Given the description of an element on the screen output the (x, y) to click on. 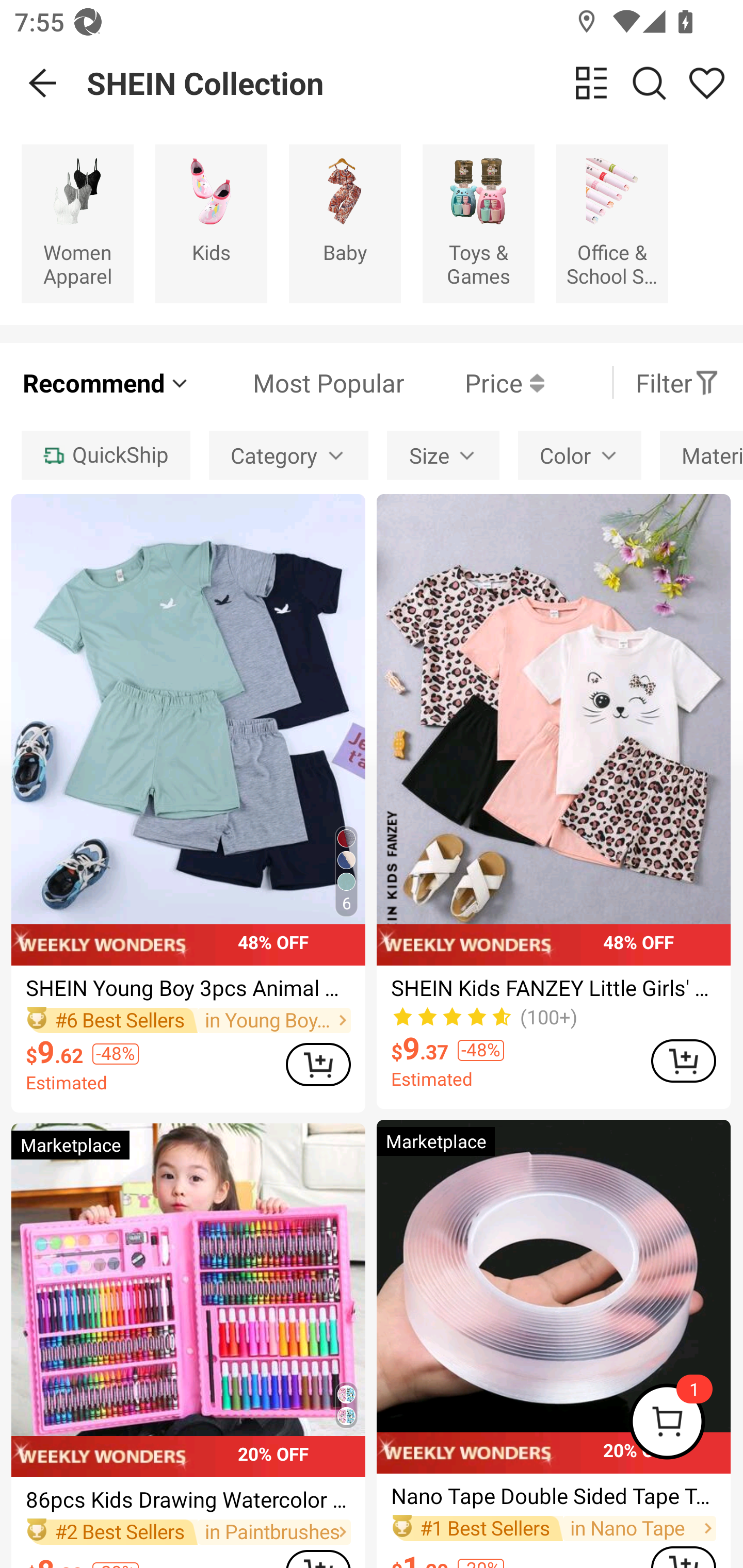
SHEIN Collection change view Search Share (414, 82)
change view (591, 82)
Search (648, 82)
Share (706, 82)
Women Apparel (77, 223)
Kids (211, 223)
Baby (345, 223)
Toys & Games (478, 223)
Office & School Supplies (611, 223)
Recommend (106, 382)
Most Popular (297, 382)
Price (474, 382)
Filter (677, 382)
QuickShip (105, 455)
Category (288, 455)
Size (443, 455)
Color (579, 455)
Material (701, 455)
#6 Best Sellers in Young Boys Sets (188, 1019)
ADD TO CART (683, 1060)
ADD TO CART (318, 1064)
#1 Best Sellers in Nano Tape (553, 1527)
#2 Best Sellers in Paintbrushes (188, 1531)
